Given the description of an element on the screen output the (x, y) to click on. 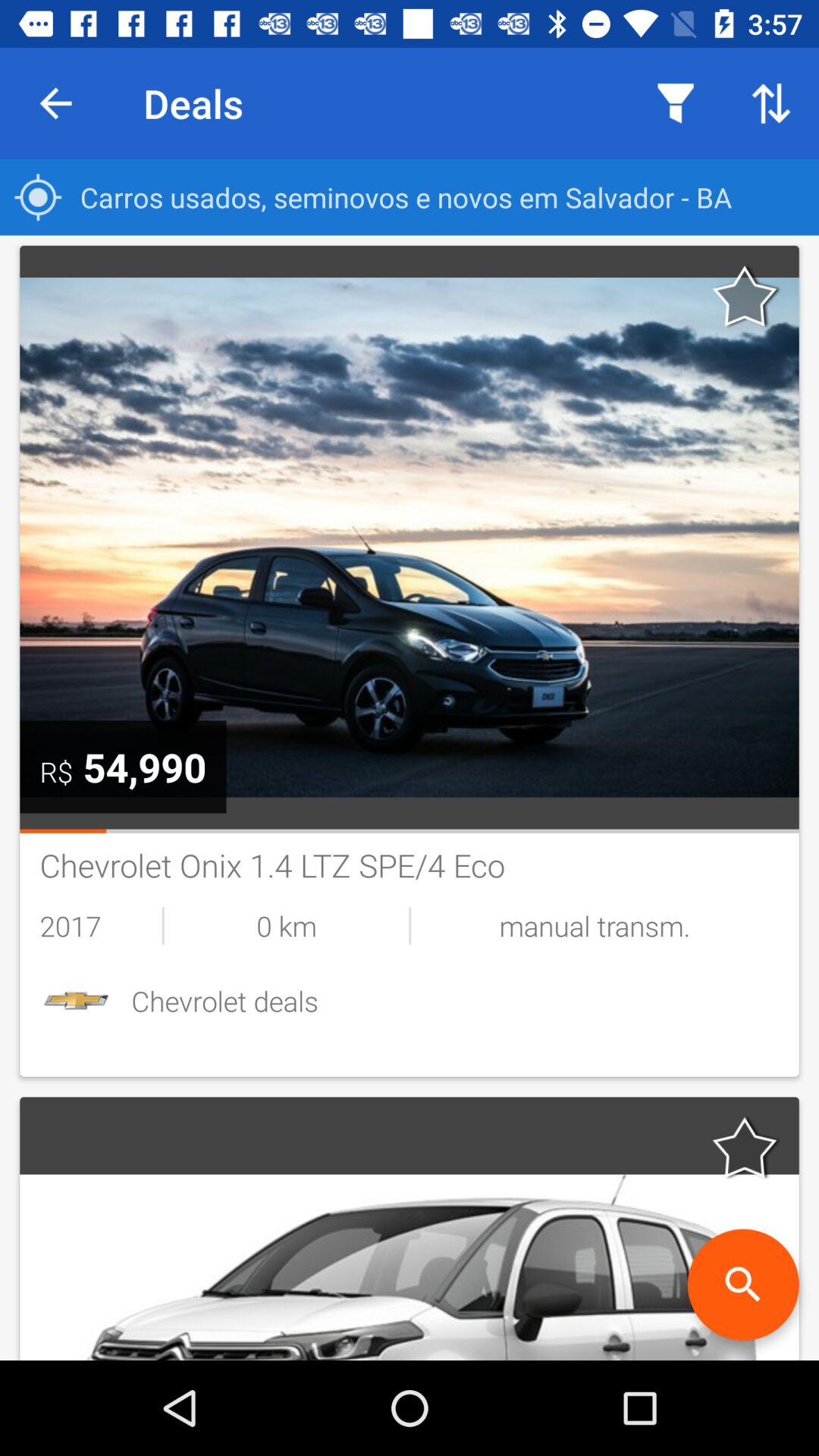
set favorite (745, 295)
